Given the description of an element on the screen output the (x, y) to click on. 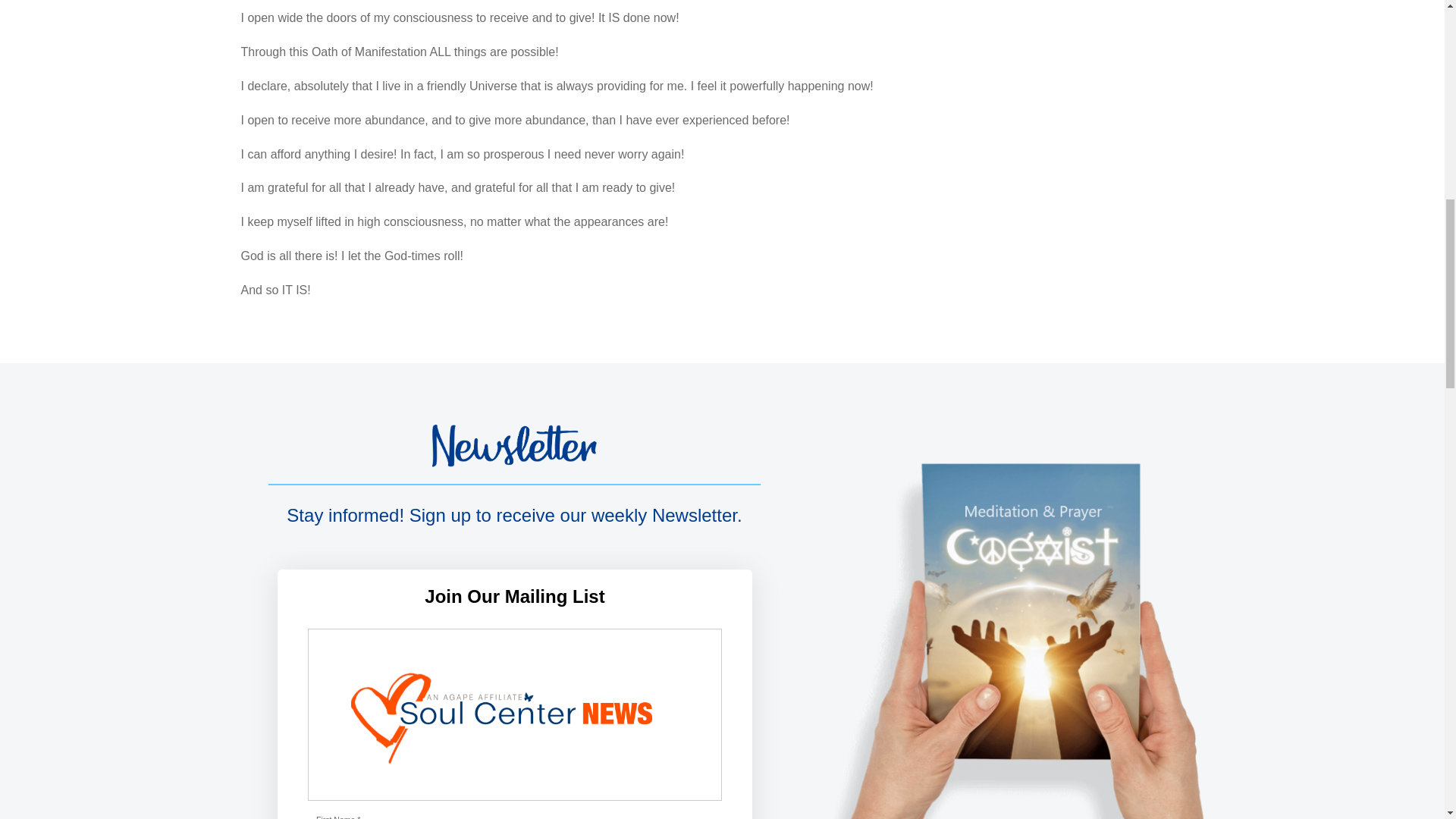
Path-1313 (514, 446)
